Given the description of an element on the screen output the (x, y) to click on. 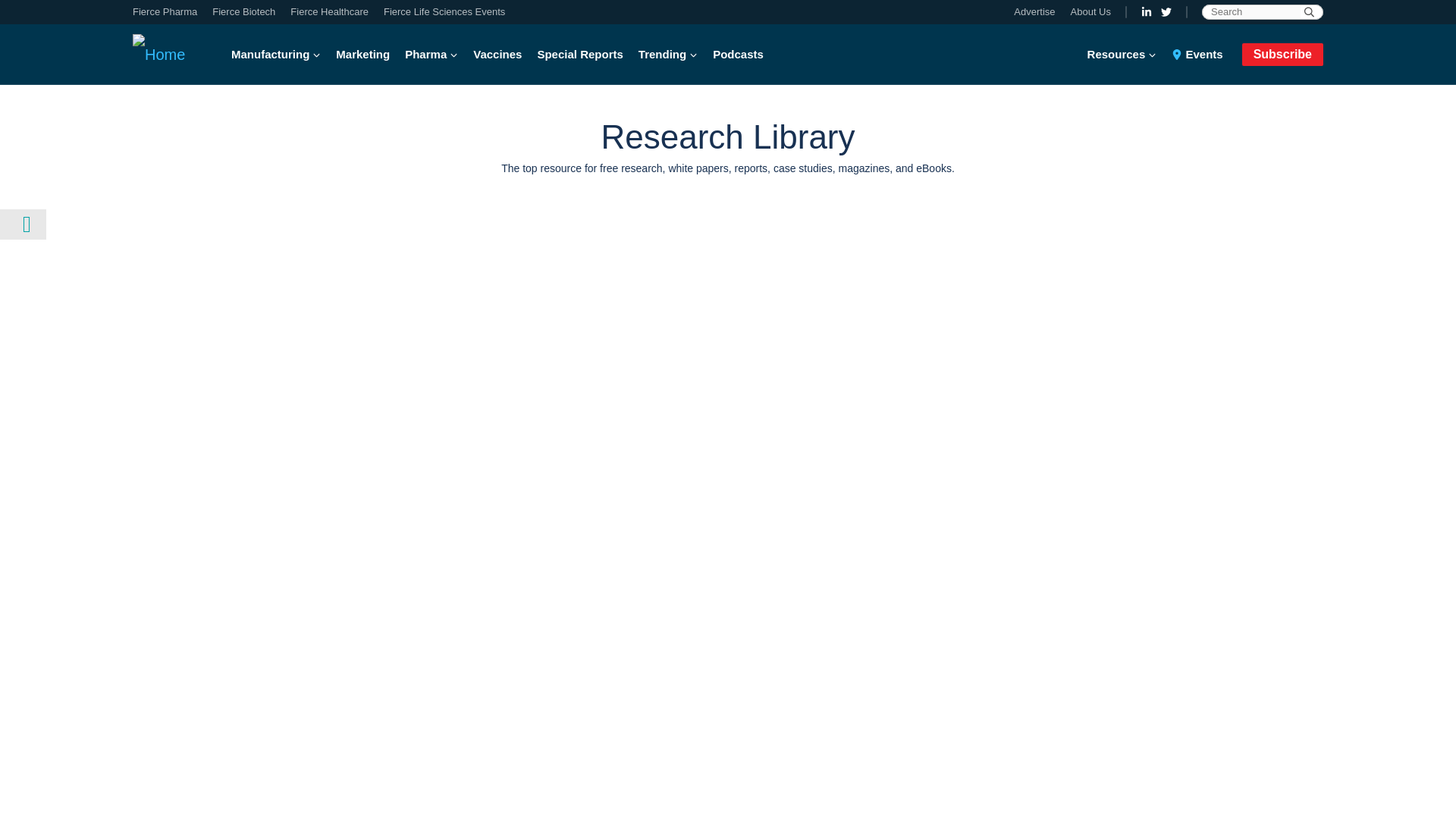
Fierce Pharma (168, 12)
Fierce Healthcare (328, 12)
Life Sciences Events (440, 12)
Vaccines (497, 54)
Advertise (1037, 12)
Pharma (431, 54)
Manufacturing (280, 54)
Resources (1125, 54)
Subscribe (1282, 53)
Trending Topics (667, 54)
